Given the description of an element on the screen output the (x, y) to click on. 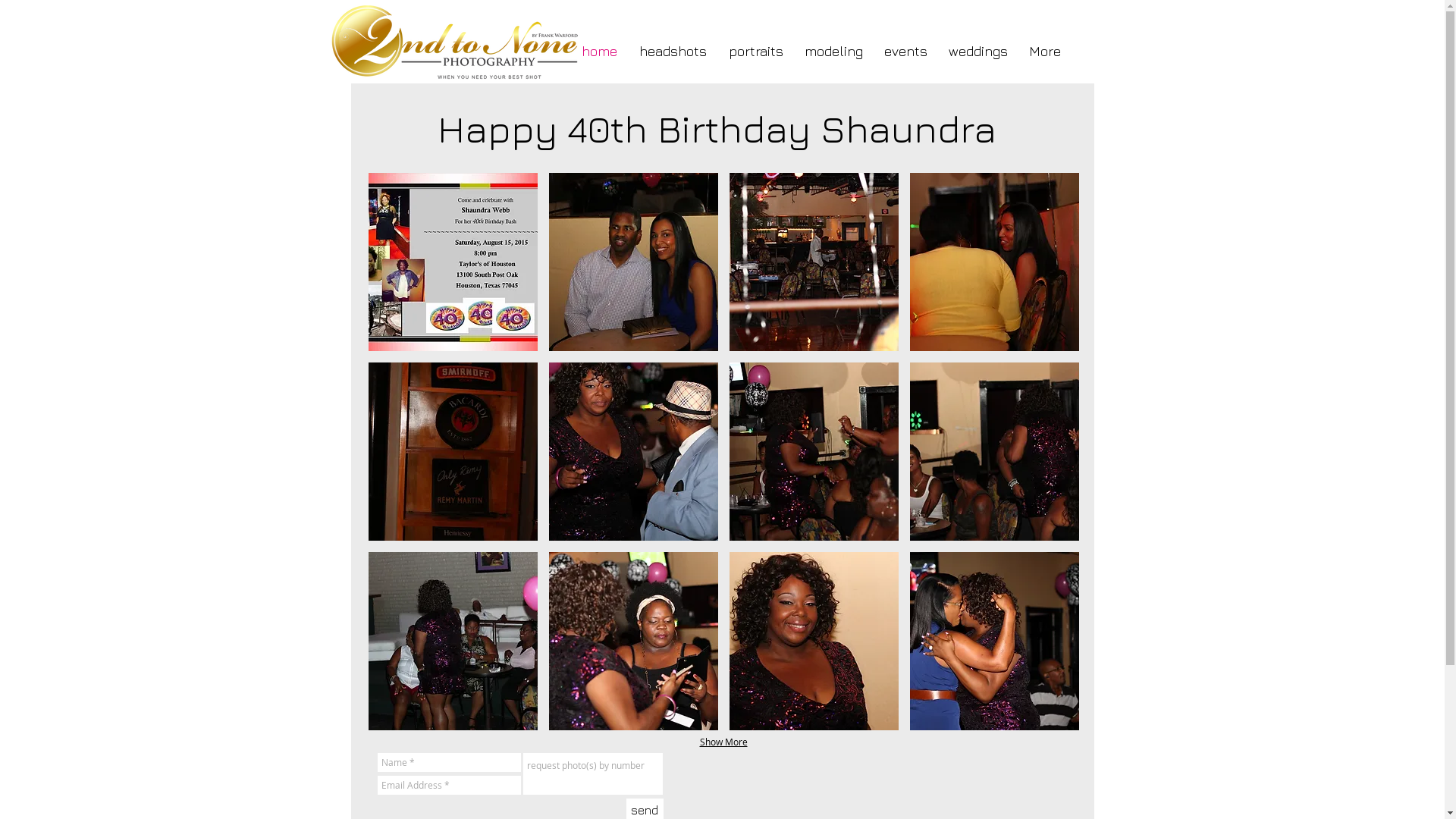
headshots Element type: text (672, 50)
weddings Element type: text (977, 50)
modeling Element type: text (832, 50)
Show More Element type: text (722, 742)
events Element type: text (905, 50)
home Element type: text (598, 50)
portraits Element type: text (755, 50)
